Given the description of an element on the screen output the (x, y) to click on. 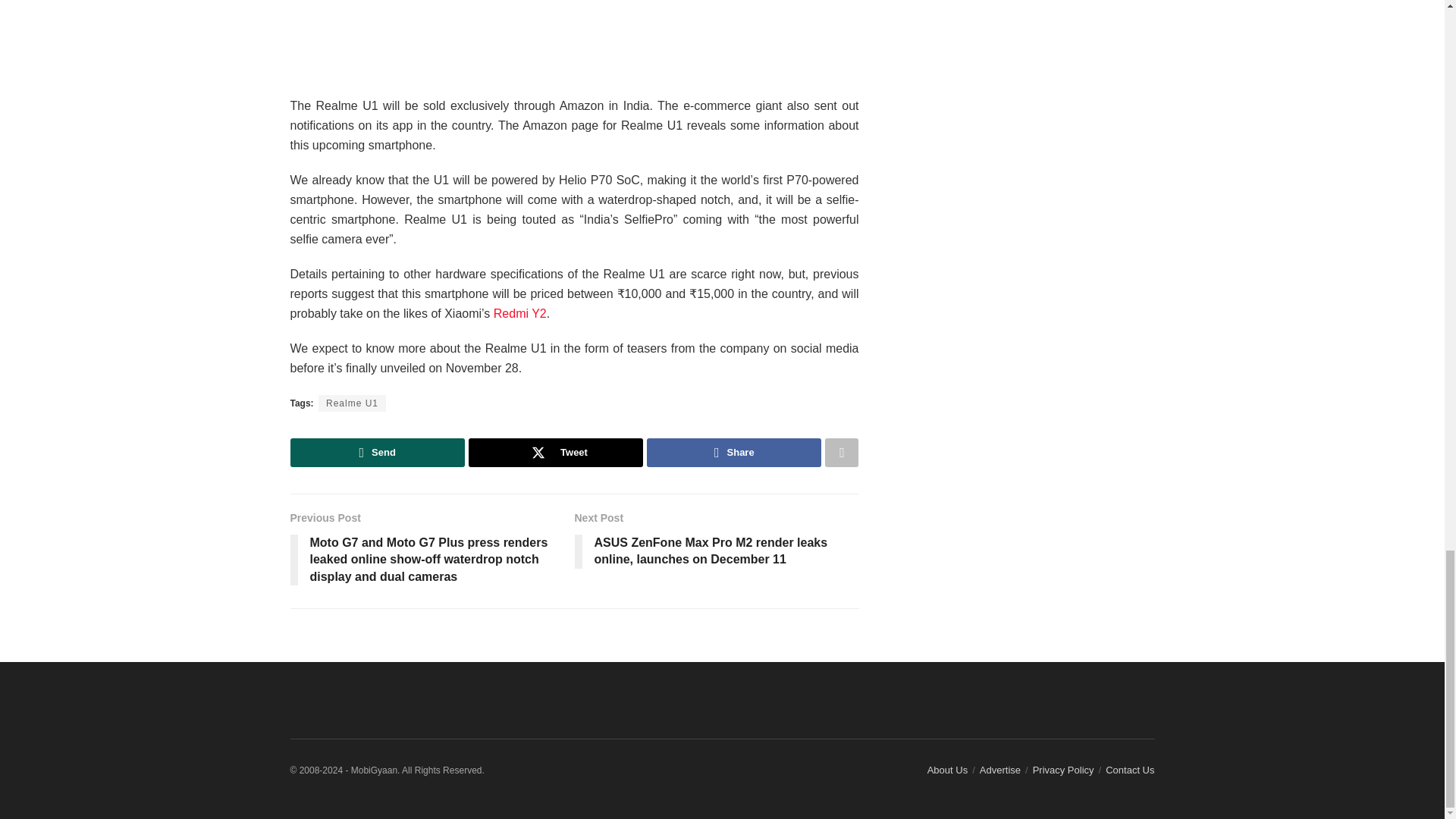
Send (376, 452)
Tweet (555, 452)
Realme U1 (351, 402)
Redmi Y2 (520, 313)
Share (733, 452)
